Given the description of an element on the screen output the (x, y) to click on. 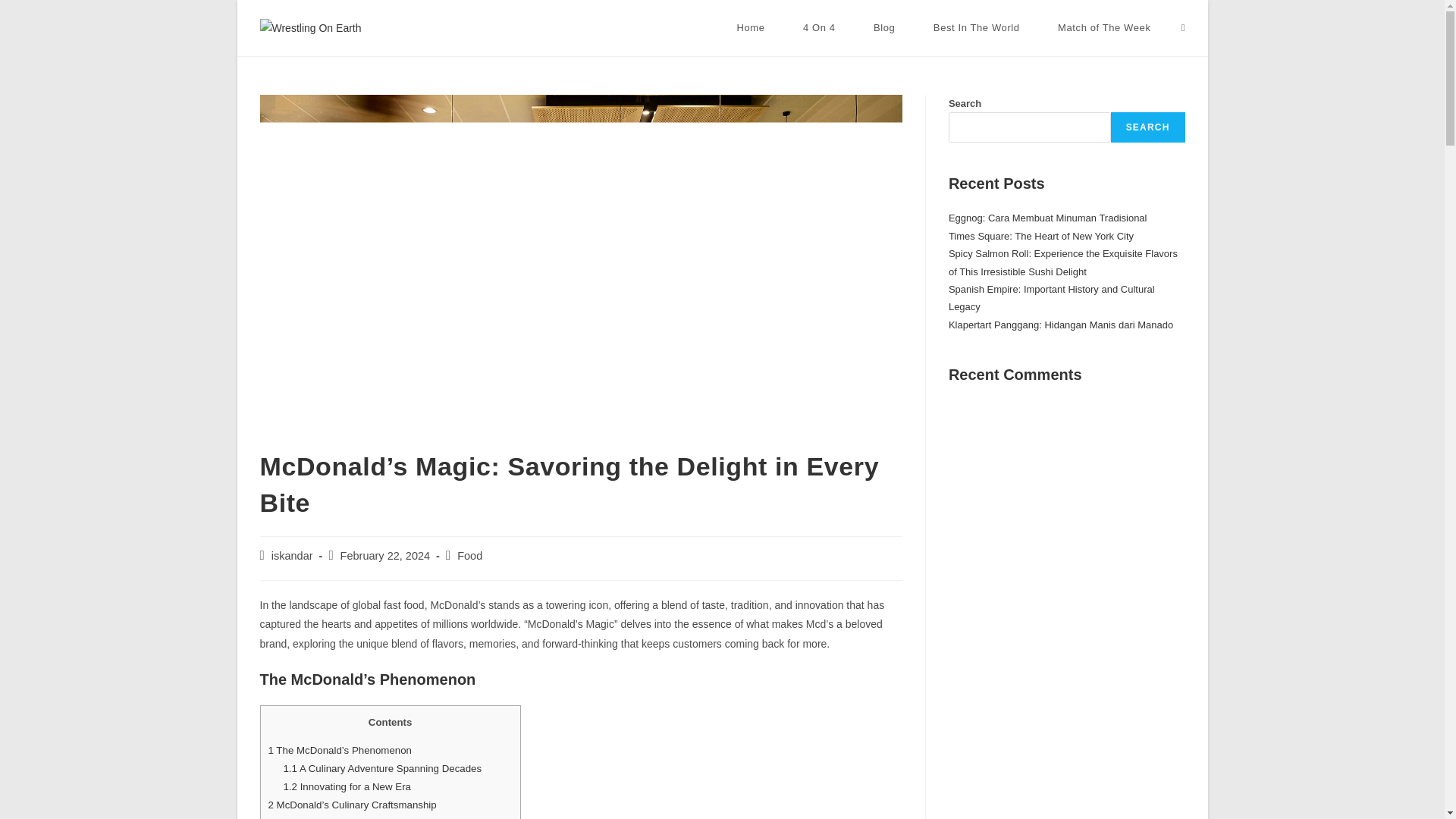
Home (750, 28)
1.1 A Culinary Adventure Spanning Decades (381, 767)
Posts by iskandar (291, 555)
Match of The Week (1104, 28)
1.2 Innovating for a New Era (346, 786)
iskandar (291, 555)
Blog (884, 28)
4 On 4 (819, 28)
Best In The World (976, 28)
